Given the description of an element on the screen output the (x, y) to click on. 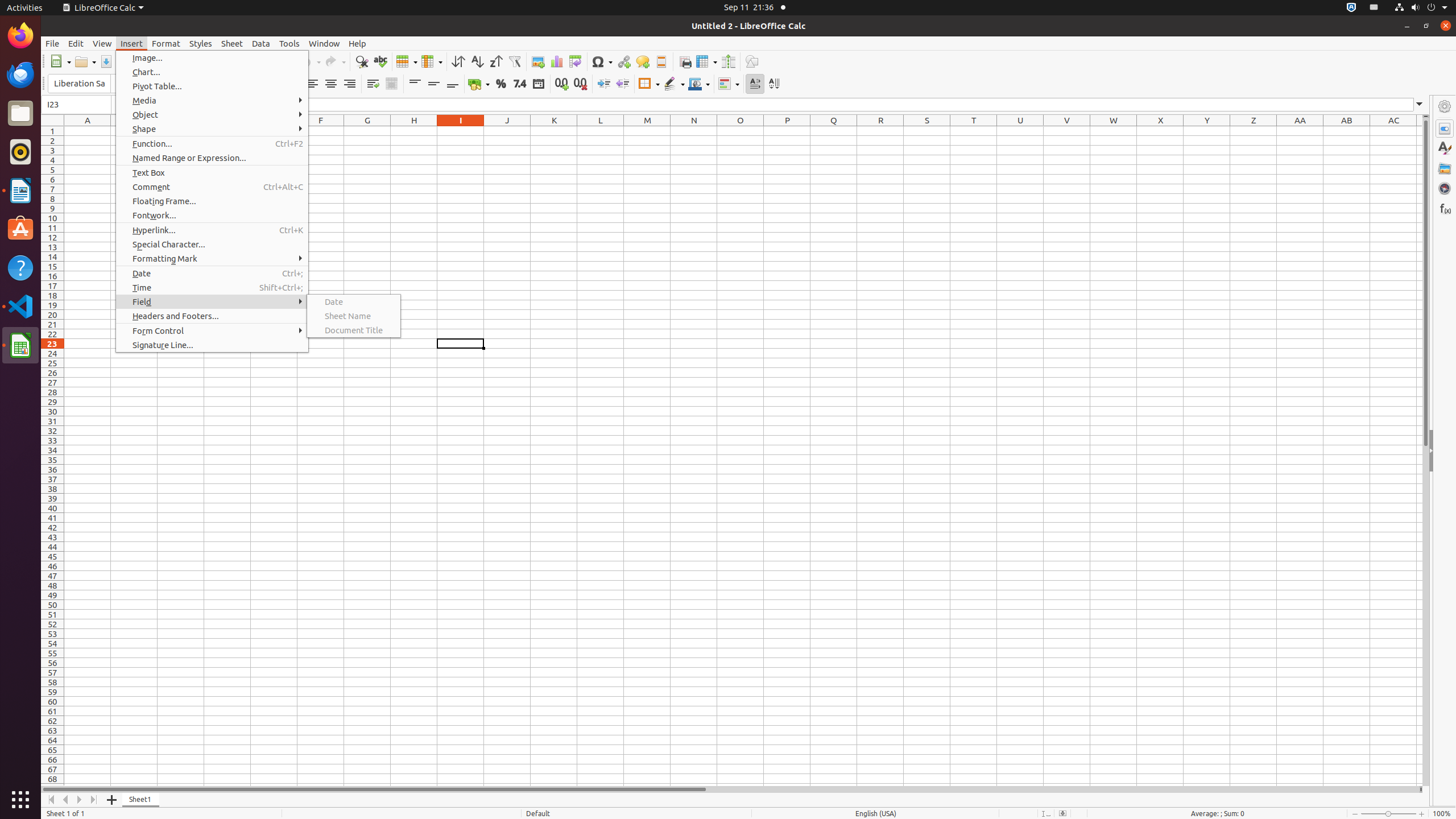
Open Element type: push-button (84, 61)
Spelling Element type: push-button (379, 61)
Document Title Element type: menu-item (353, 330)
Name Box Element type: text (75, 104)
Field Element type: menu (212, 301)
